Given the description of an element on the screen output the (x, y) to click on. 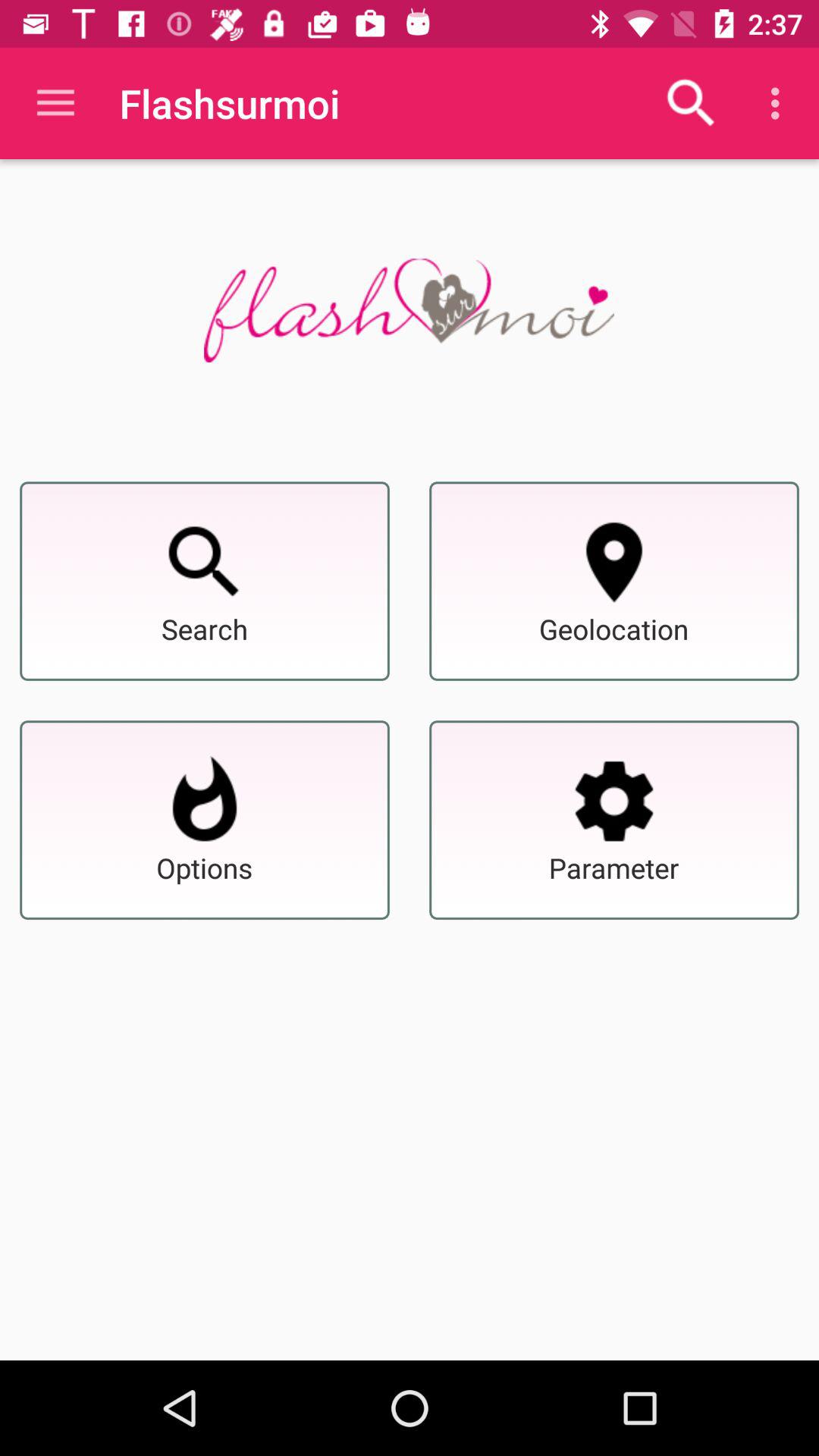
search (204, 562)
